Given the description of an element on the screen output the (x, y) to click on. 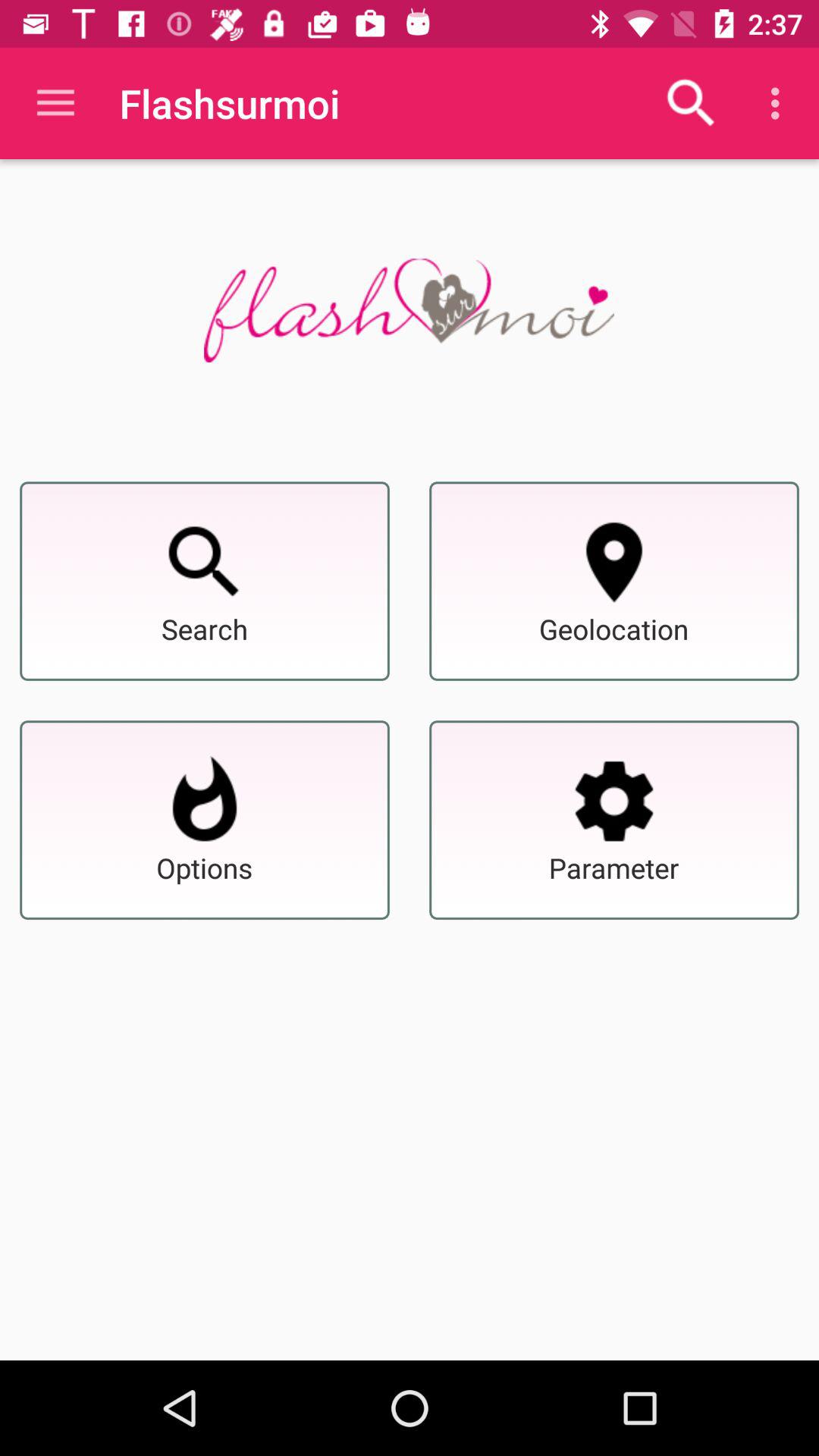
search (204, 562)
